Given the description of an element on the screen output the (x, y) to click on. 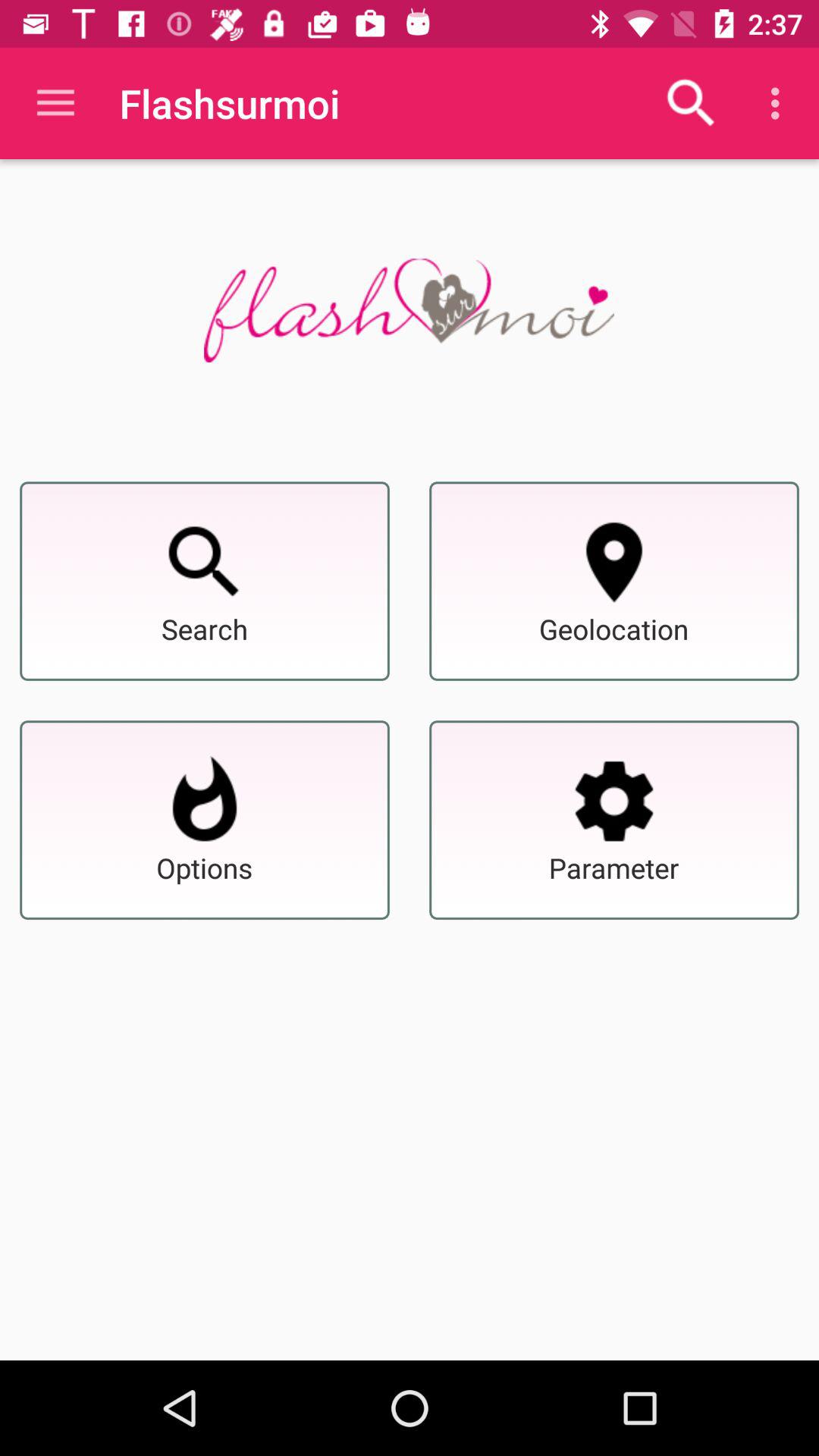
search (204, 562)
